Given the description of an element on the screen output the (x, y) to click on. 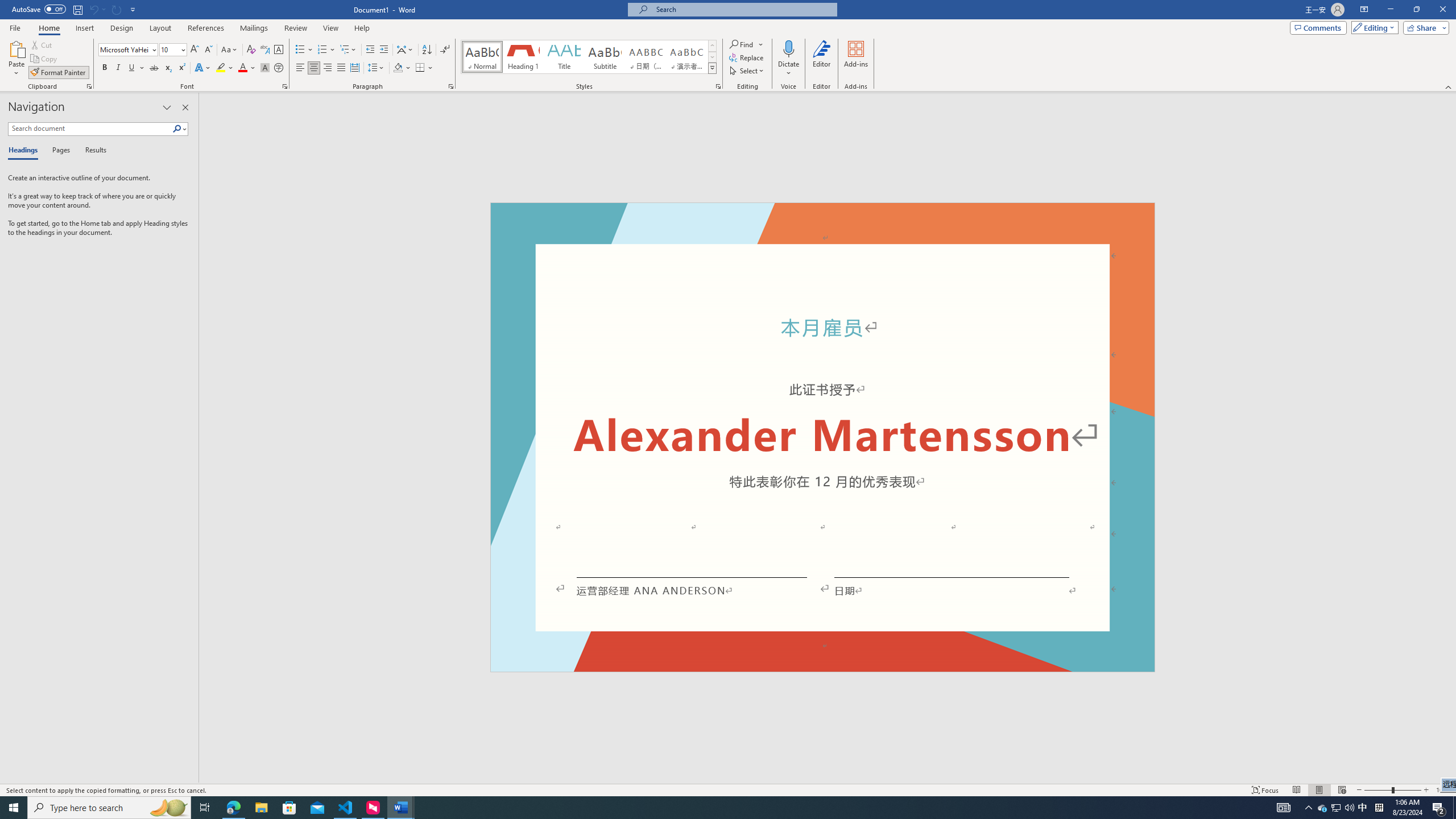
Header -Section 1- (822, 216)
Share (1423, 27)
Find (746, 44)
Multilevel List (347, 49)
Format Painter (58, 72)
Grow Font (193, 49)
Heading 1 (522, 56)
Read Mode (1296, 790)
Distributed (354, 67)
Font Size (172, 49)
Zoom In (1426, 790)
Bold (104, 67)
Can't Undo (96, 9)
Close (1442, 9)
Borders (424, 67)
